Given the description of an element on the screen output the (x, y) to click on. 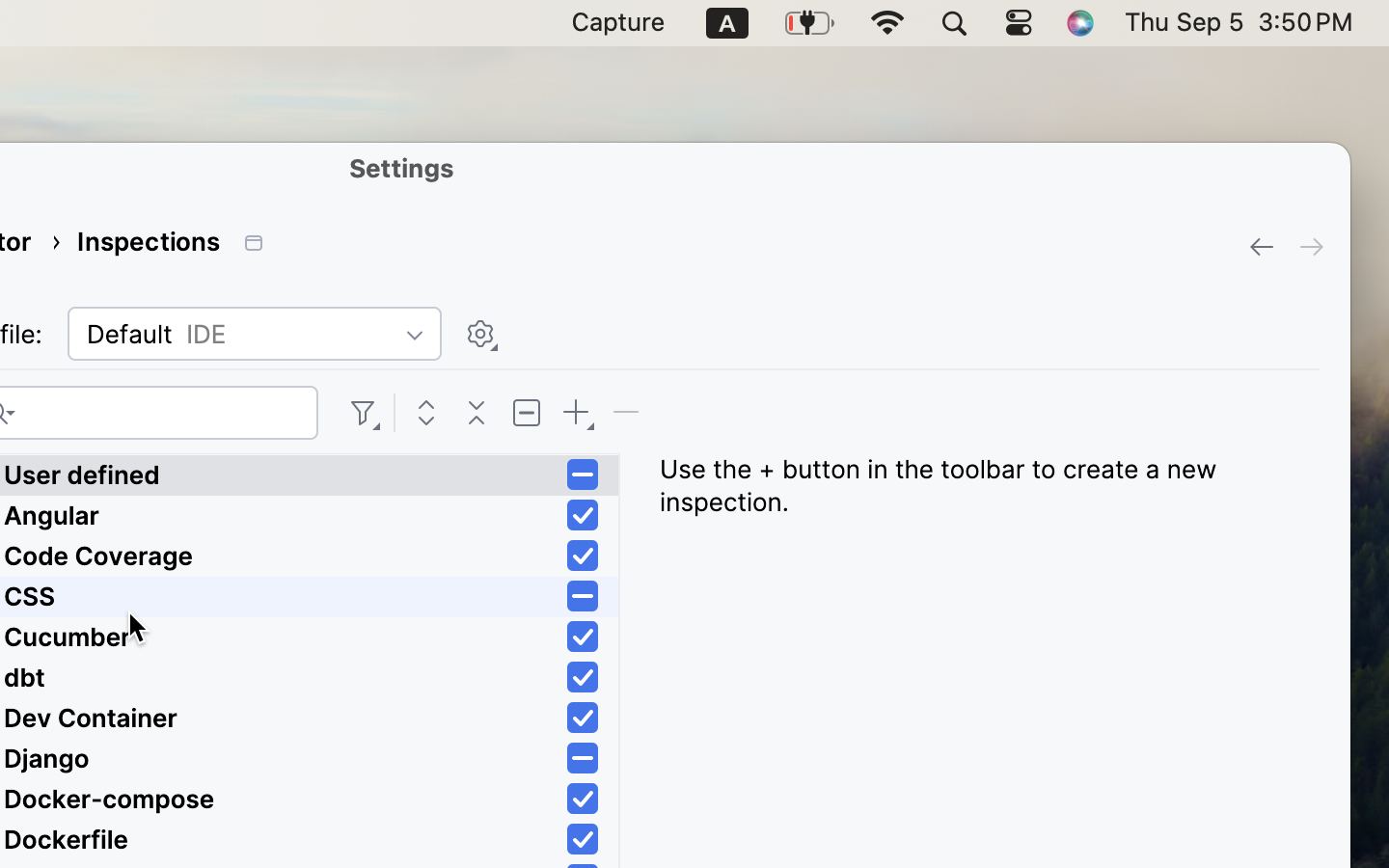
1 Element type: AXCell (582, 515)
Settings Element type: AXStaticText (402, 167)
1 Element type: AXCheckBox (582, 677)
Default Element type: AXPopUpButton (254, 333)
